Given the description of an element on the screen output the (x, y) to click on. 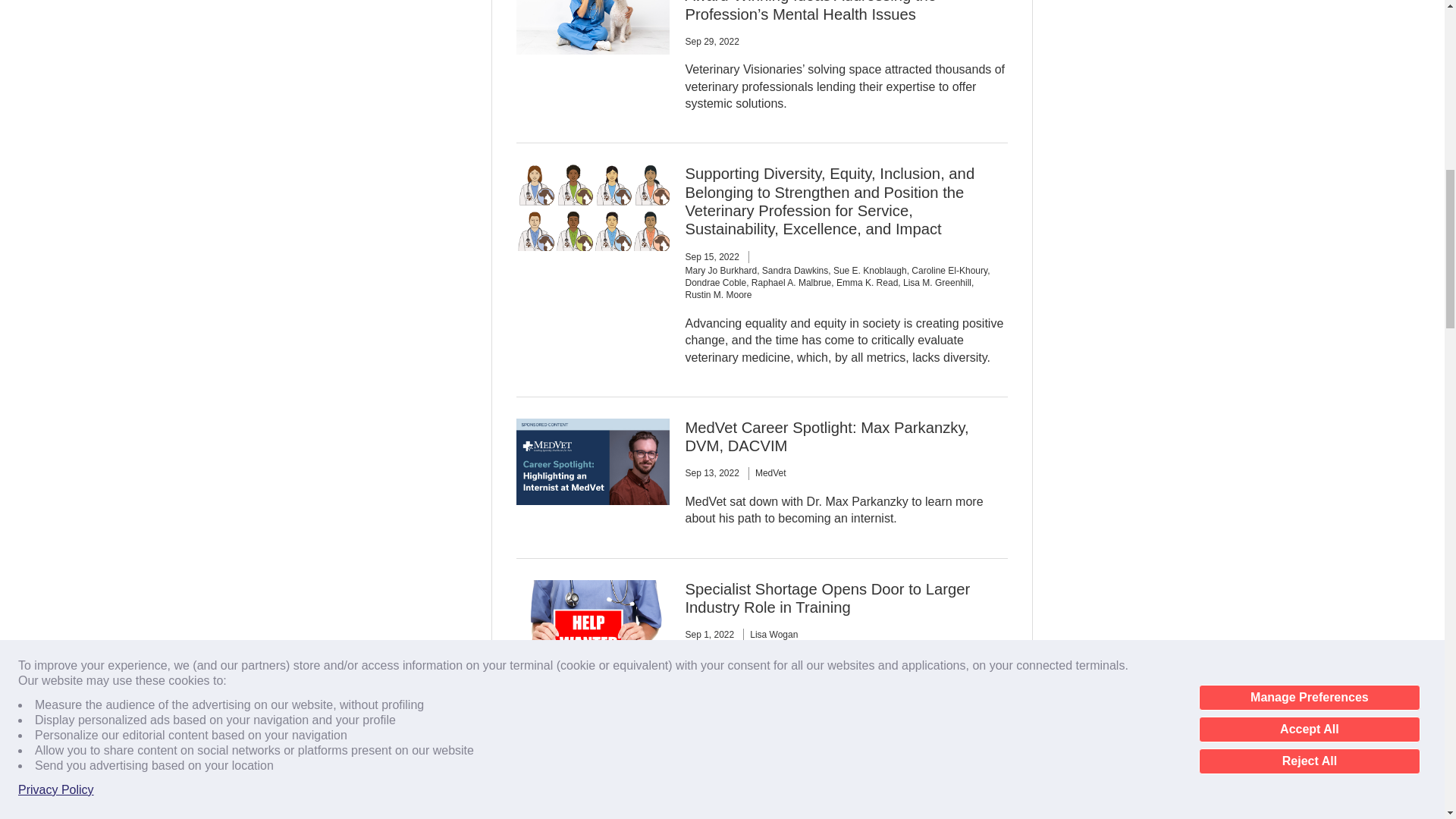
MedVet Career Spotlight: Max Parkanzky, DVM, DACVIM (826, 436)
Career Spotlight: Cona Anwer (786, 750)
